Given the description of an element on the screen output the (x, y) to click on. 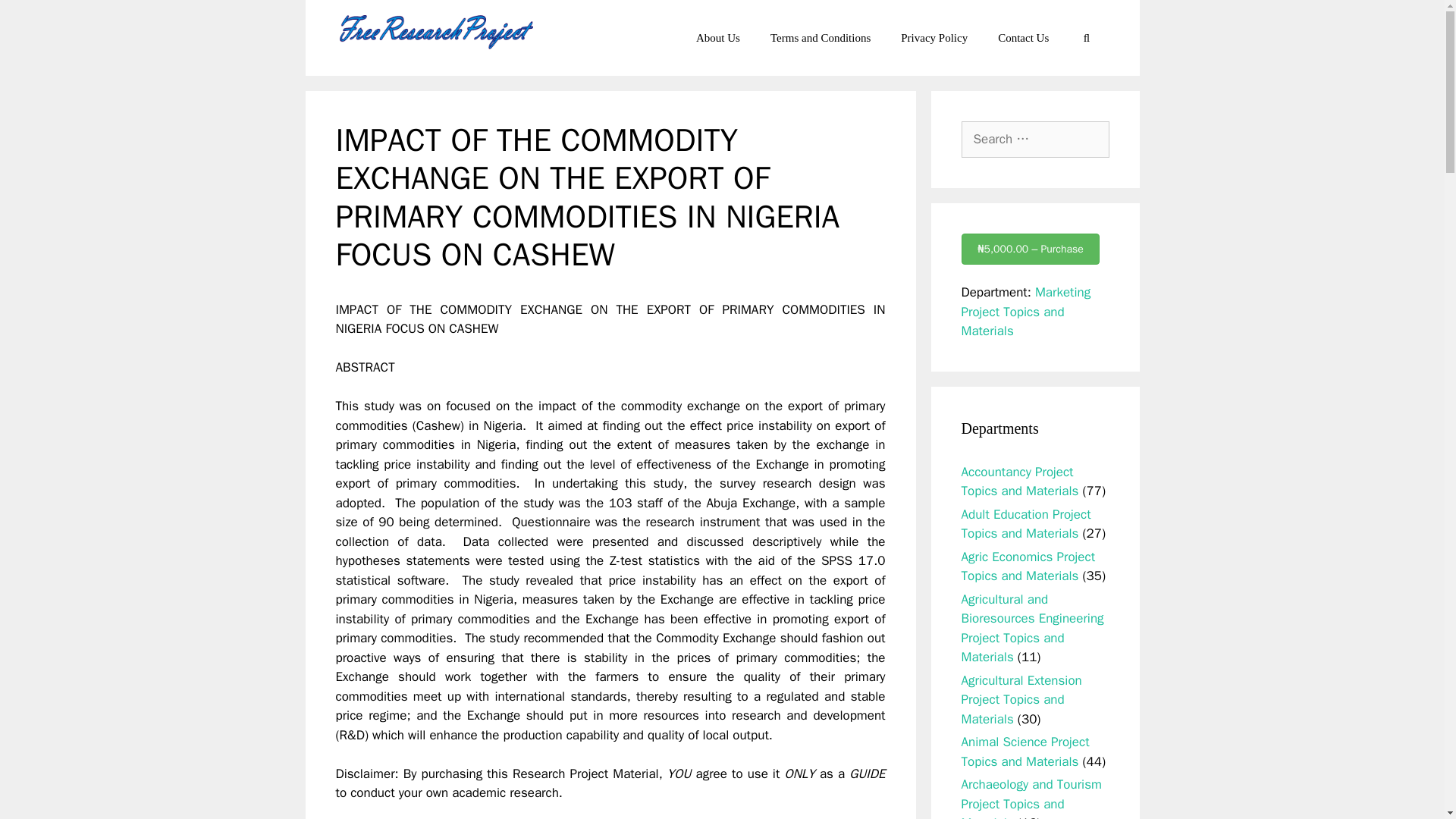
Agricultural Extension Project Topics and Materials (1020, 699)
Privacy Policy (933, 37)
Marketing Project Topics and Materials (1025, 311)
Terms and Conditions (820, 37)
Contact Us (1023, 37)
About Us (718, 37)
Animal Science Project Topics and Materials (1024, 751)
Archaeology and Tourism Project Topics and Materials (1031, 797)
Agric Economics Project Topics and Materials (1028, 566)
Search for: (1034, 139)
Accountancy Project Topics and Materials (1019, 481)
Adult Education Project Topics and Materials (1025, 524)
Search (35, 18)
